Given the description of an element on the screen output the (x, y) to click on. 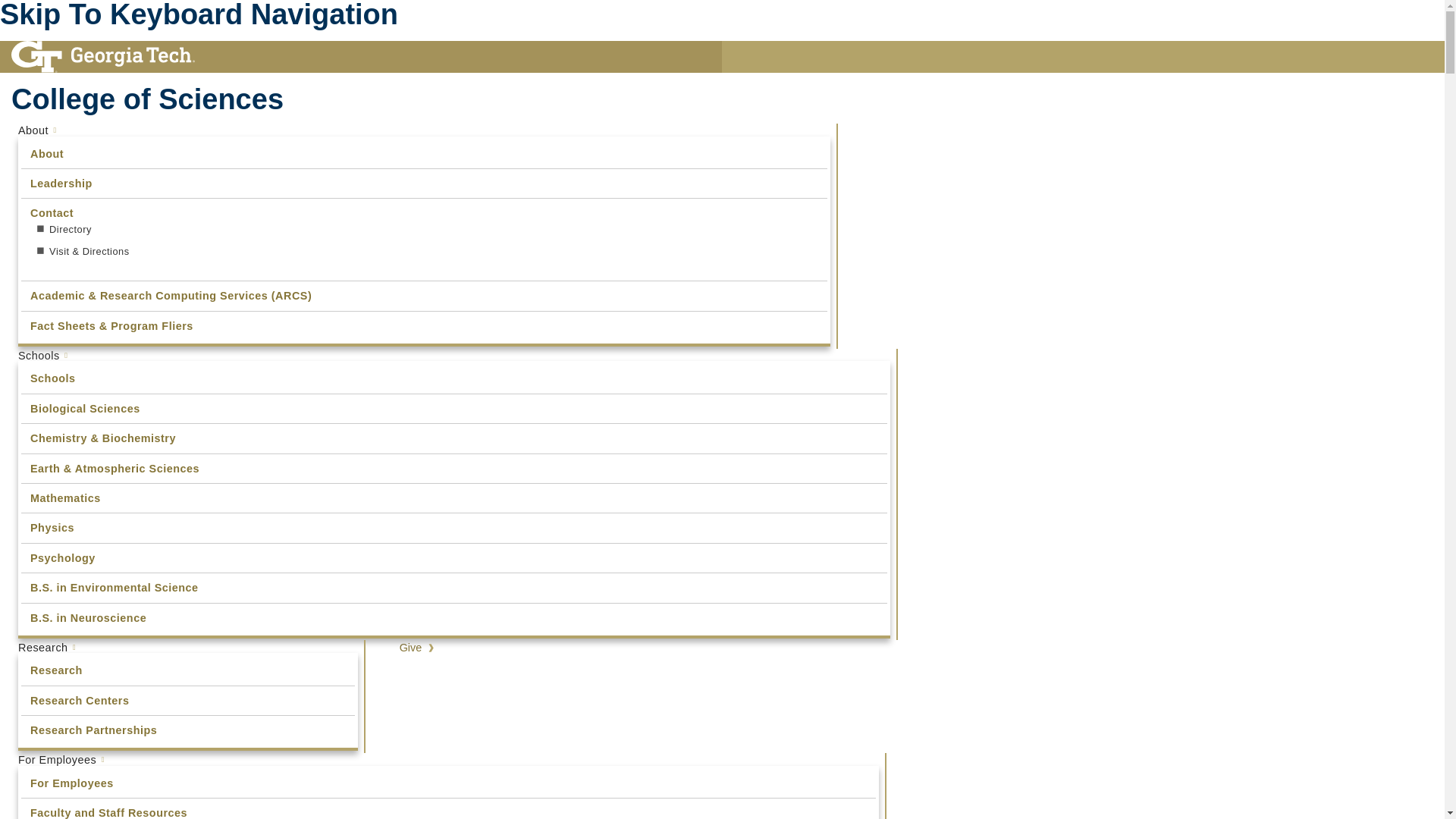
Research Partnerships (186, 729)
Research (187, 647)
Toggle navigation (345, 409)
For Employees (448, 783)
College of Sciences (454, 99)
About (424, 153)
Contact (424, 213)
For Employees (448, 759)
undefined (424, 153)
Schools (453, 378)
undefined (448, 783)
Physics (453, 527)
B.S. in Environmental Science (453, 587)
B.S. in Environmental Science (453, 587)
Research Centers (188, 700)
